Given the description of an element on the screen output the (x, y) to click on. 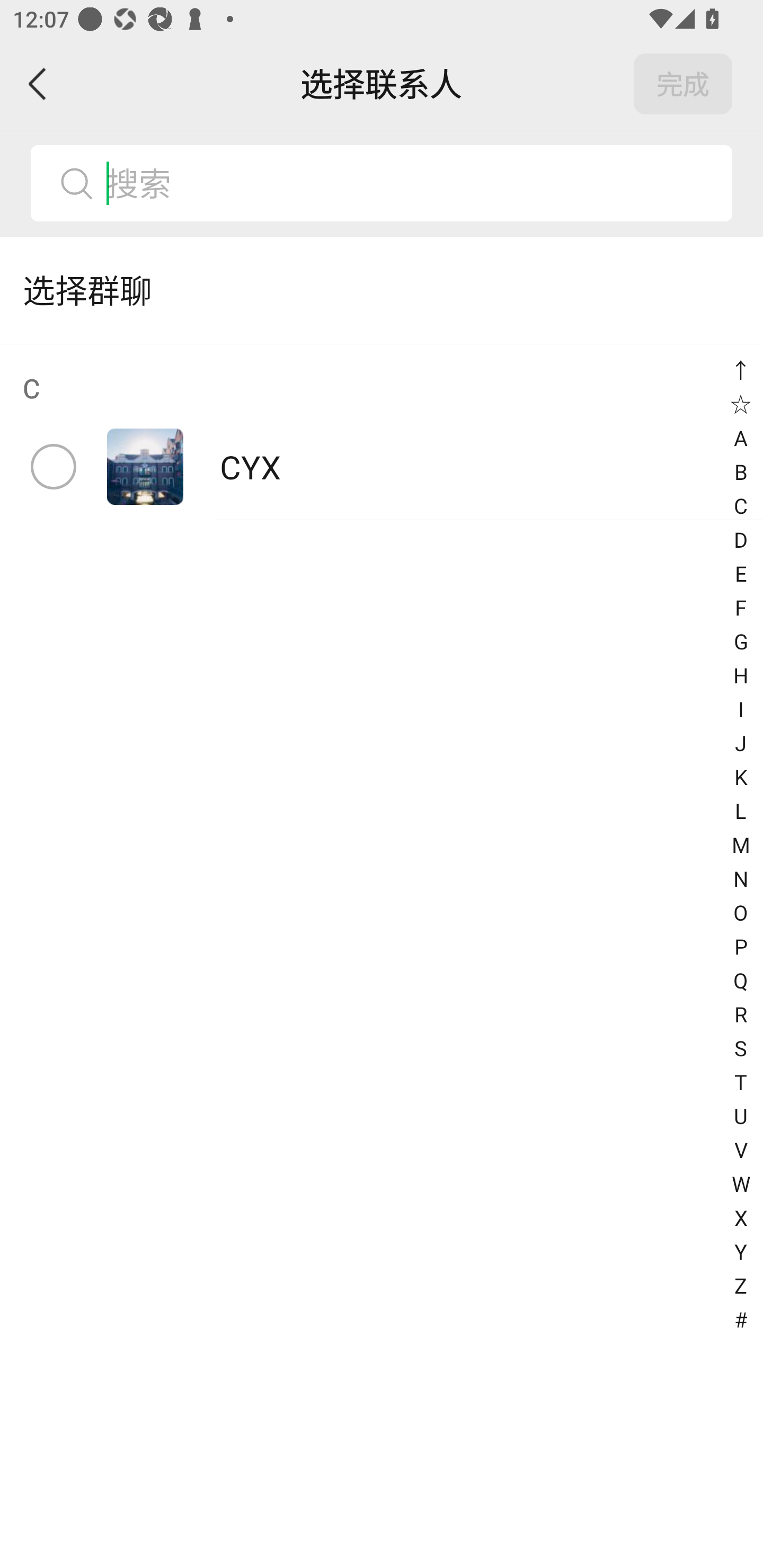
返回 (38, 83)
完成 (683, 83)
搜索 (381, 183)
搜索 (411, 183)
选择群聊 (381, 290)
C CYX (381, 432)
